Given the description of an element on the screen output the (x, y) to click on. 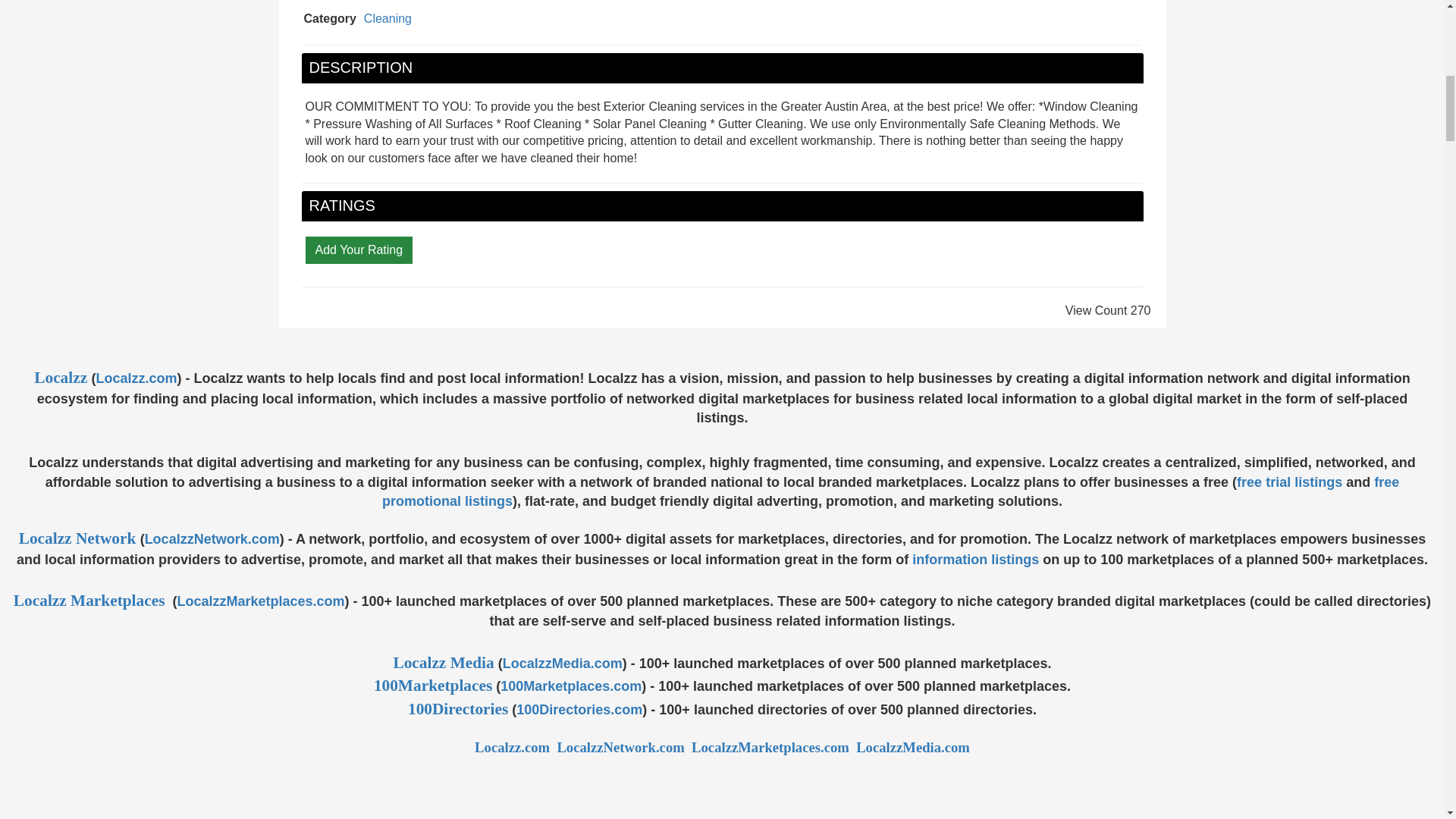
Click to Rate (358, 248)
Advertisement (721, 788)
